Given the description of an element on the screen output the (x, y) to click on. 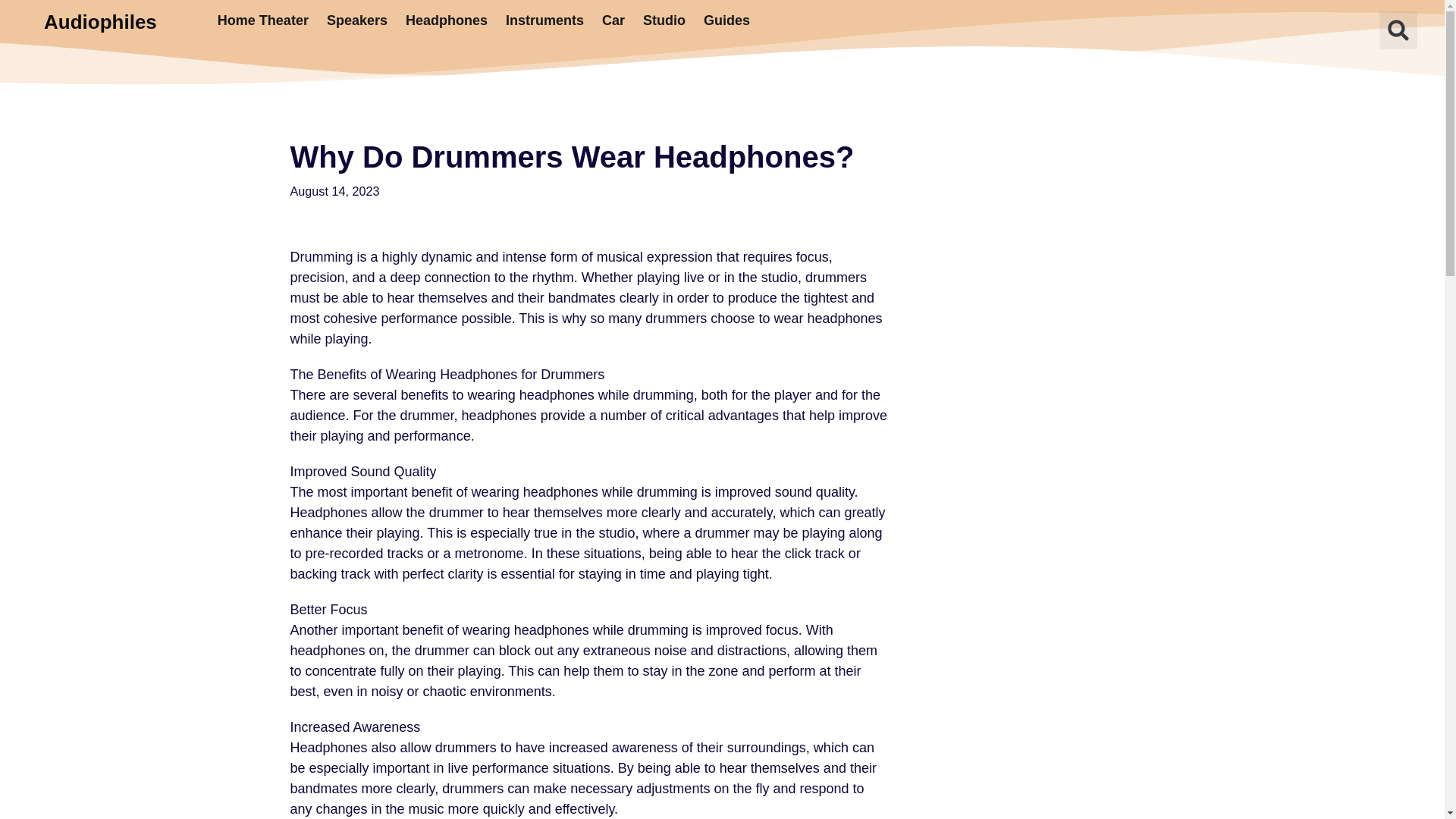
Instruments (544, 20)
Home Theater (262, 20)
Skip to content (11, 31)
Studio (663, 20)
Headphones (446, 20)
Car (612, 20)
Guides (726, 20)
Speakers (356, 20)
Audiophiles (100, 21)
